Given the description of an element on the screen output the (x, y) to click on. 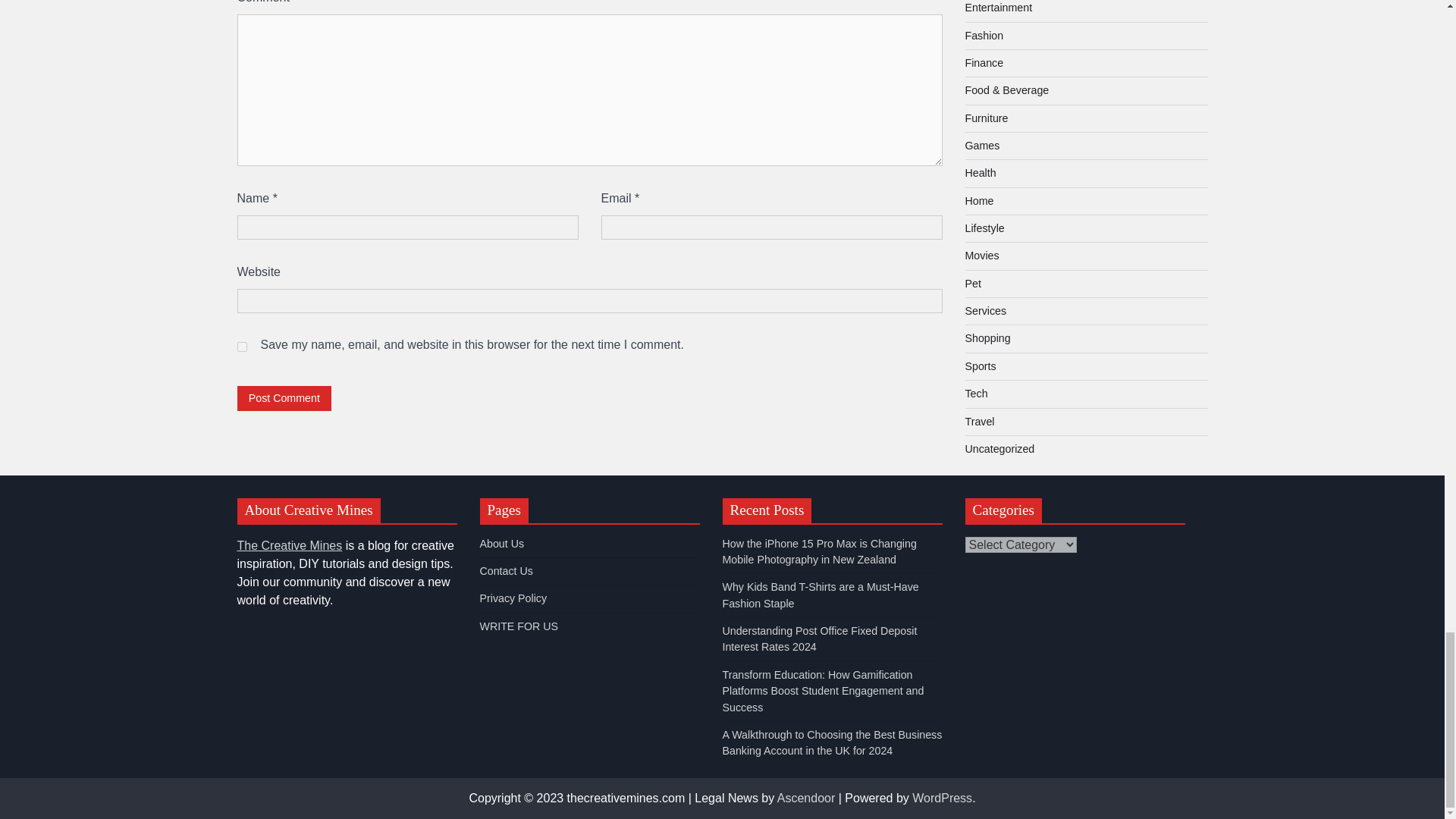
yes (240, 347)
Post Comment (283, 398)
Post Comment (283, 398)
